Given the description of an element on the screen output the (x, y) to click on. 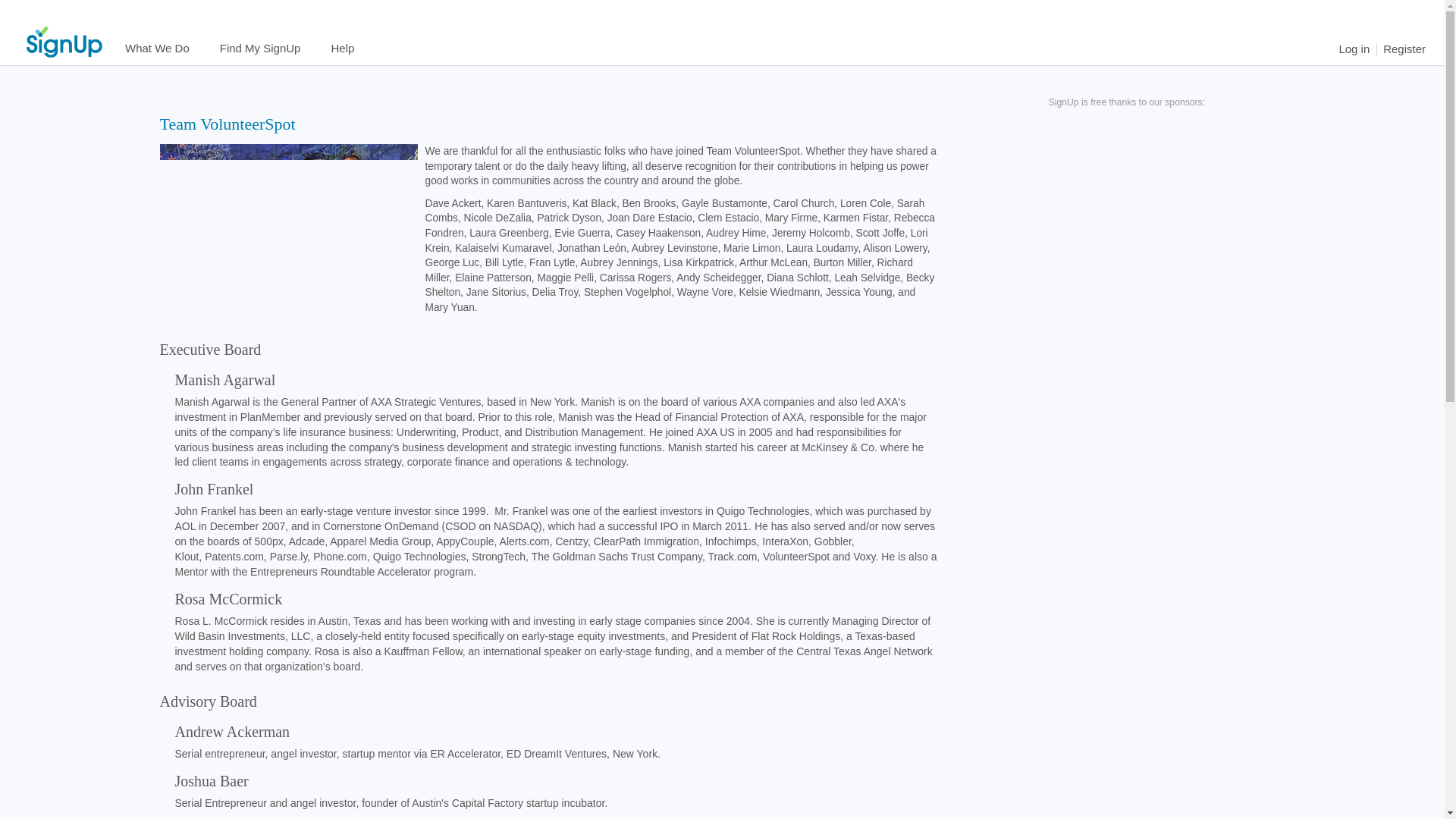
What We Do (157, 48)
Help (342, 48)
Find My SignUp (260, 48)
Register (1404, 48)
Log in (1354, 48)
